Given the description of an element on the screen output the (x, y) to click on. 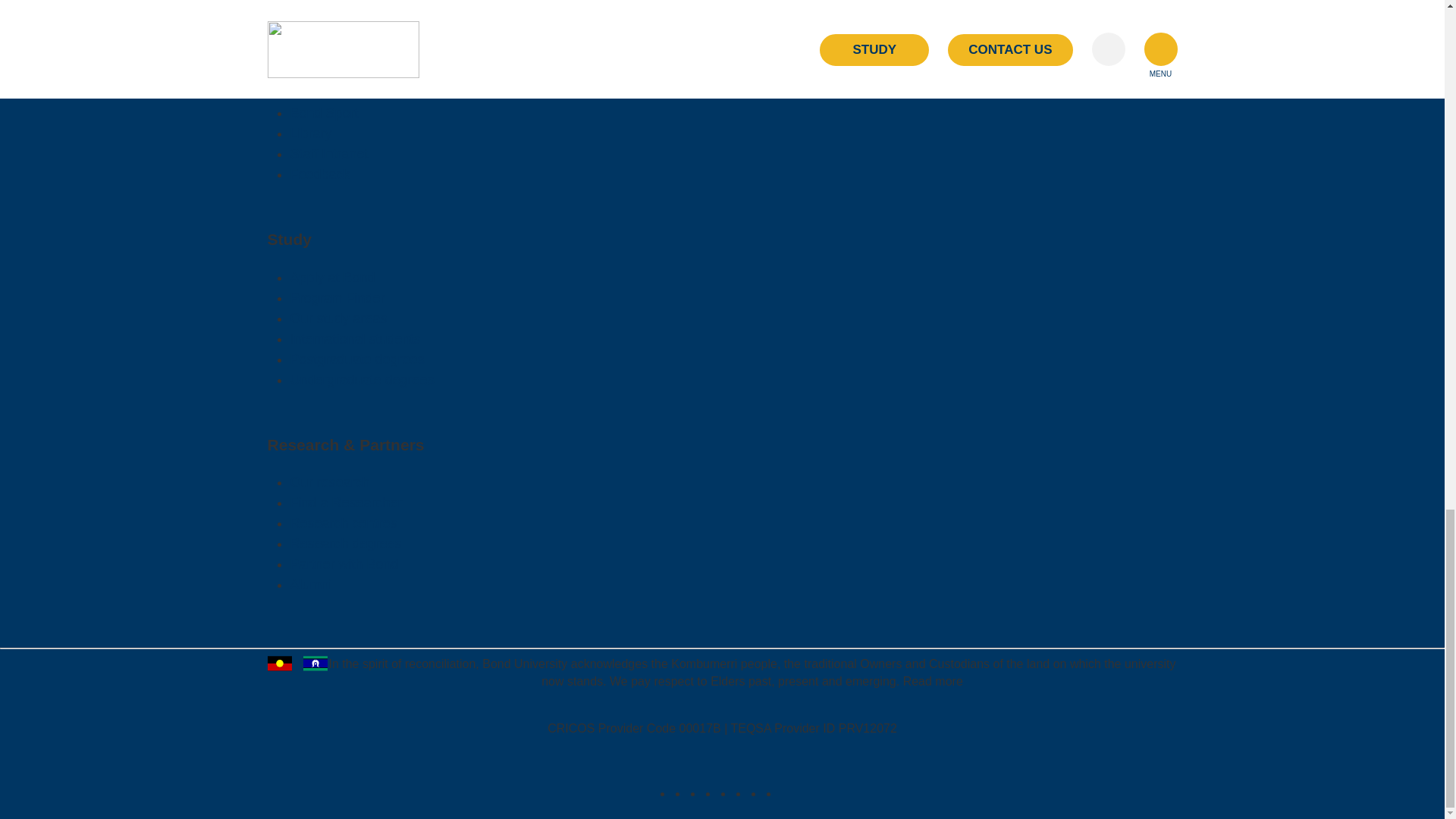
Our research (329, 482)
Visit Bond University on LinkedIn (695, 792)
Our study areas (338, 318)
Undergraduate degrees (361, 379)
Visit Bond University on YouTube (741, 792)
Program Finder (336, 297)
Current students (339, 71)
Staff Intranet (328, 153)
Campus map (330, 92)
Visit Bond University on Facebook (680, 792)
Visit Bond University on TikTok (726, 792)
Feedback (319, 174)
Find a Researcher (345, 502)
International students (354, 338)
Bond Sport (323, 112)
